Given the description of an element on the screen output the (x, y) to click on. 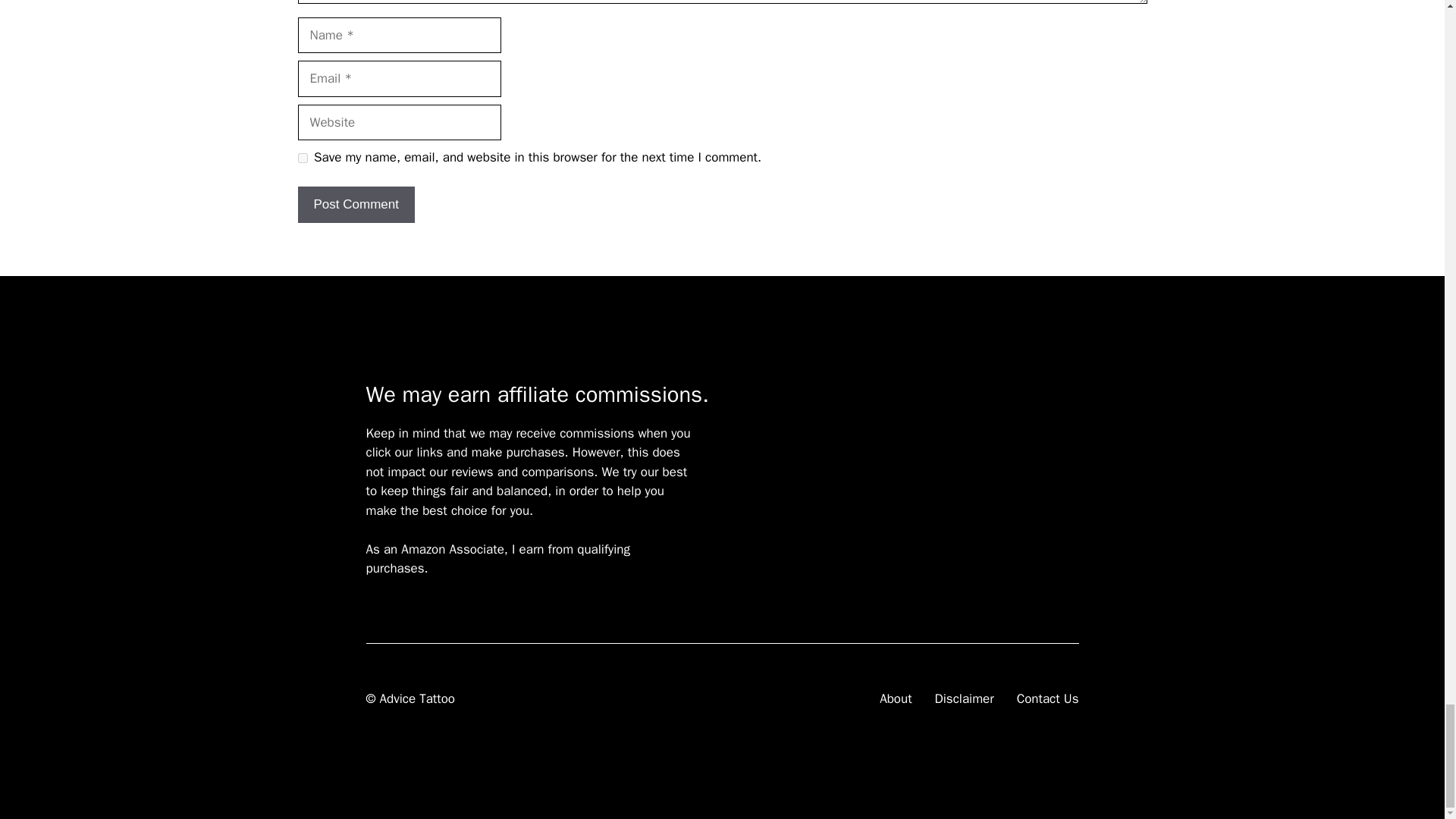
Contact Us (1047, 699)
Disclaimer (964, 699)
Post Comment (355, 204)
About (895, 699)
Post Comment (355, 204)
yes (302, 157)
